Given the description of an element on the screen output the (x, y) to click on. 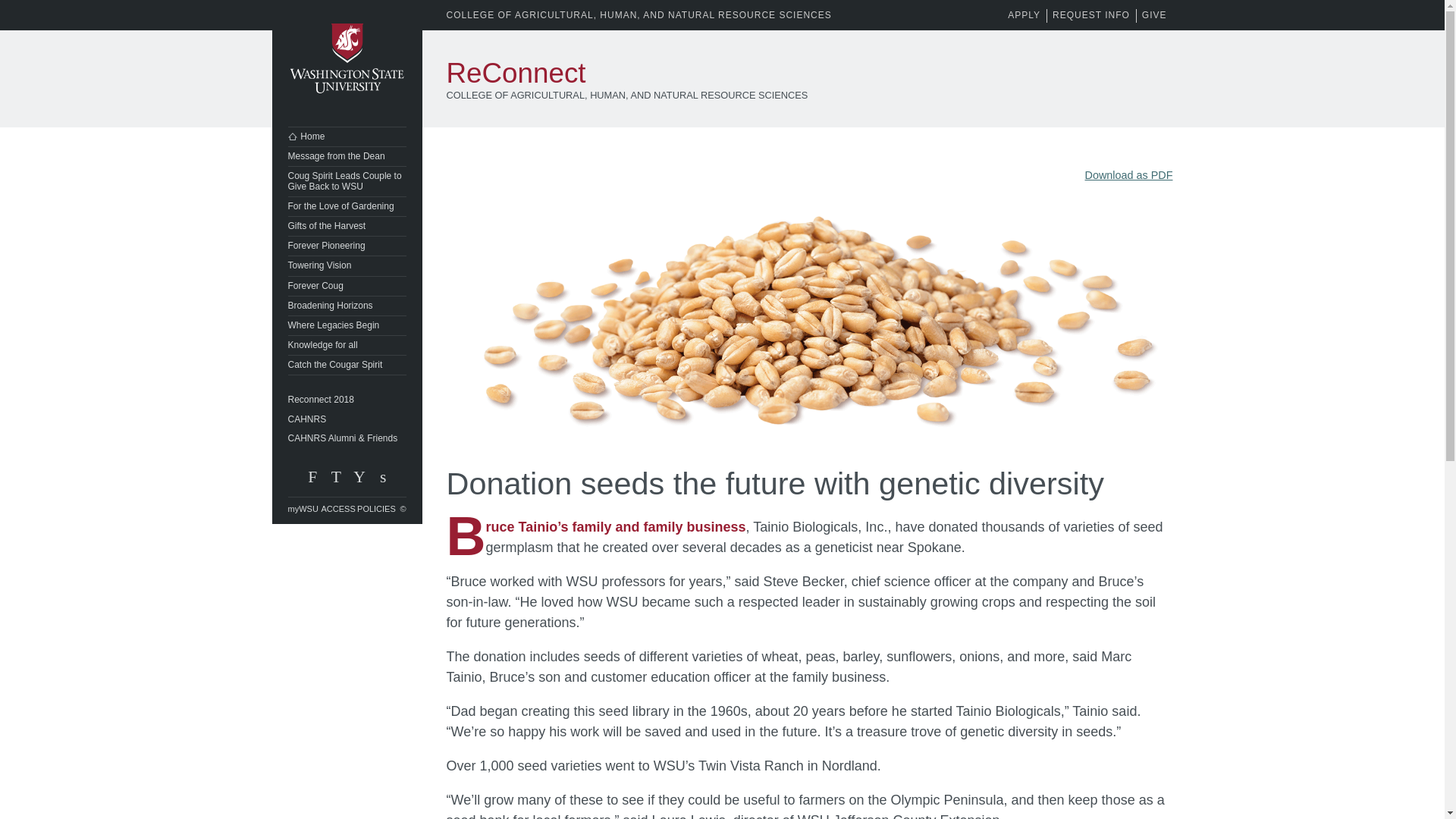
myWSU (304, 508)
CAHNRS (347, 419)
For the Love of Gardening (347, 206)
REQUEST INFO (1090, 15)
Washington State University (346, 58)
Knowledge for all (347, 344)
Social media at WSU (382, 480)
Forever Coug (347, 285)
GIVE (1154, 15)
Message from the Dean (347, 156)
APPLY (1023, 15)
youtube (358, 480)
ReConnect (515, 72)
Broadening Horizons (347, 305)
